Given the description of an element on the screen output the (x, y) to click on. 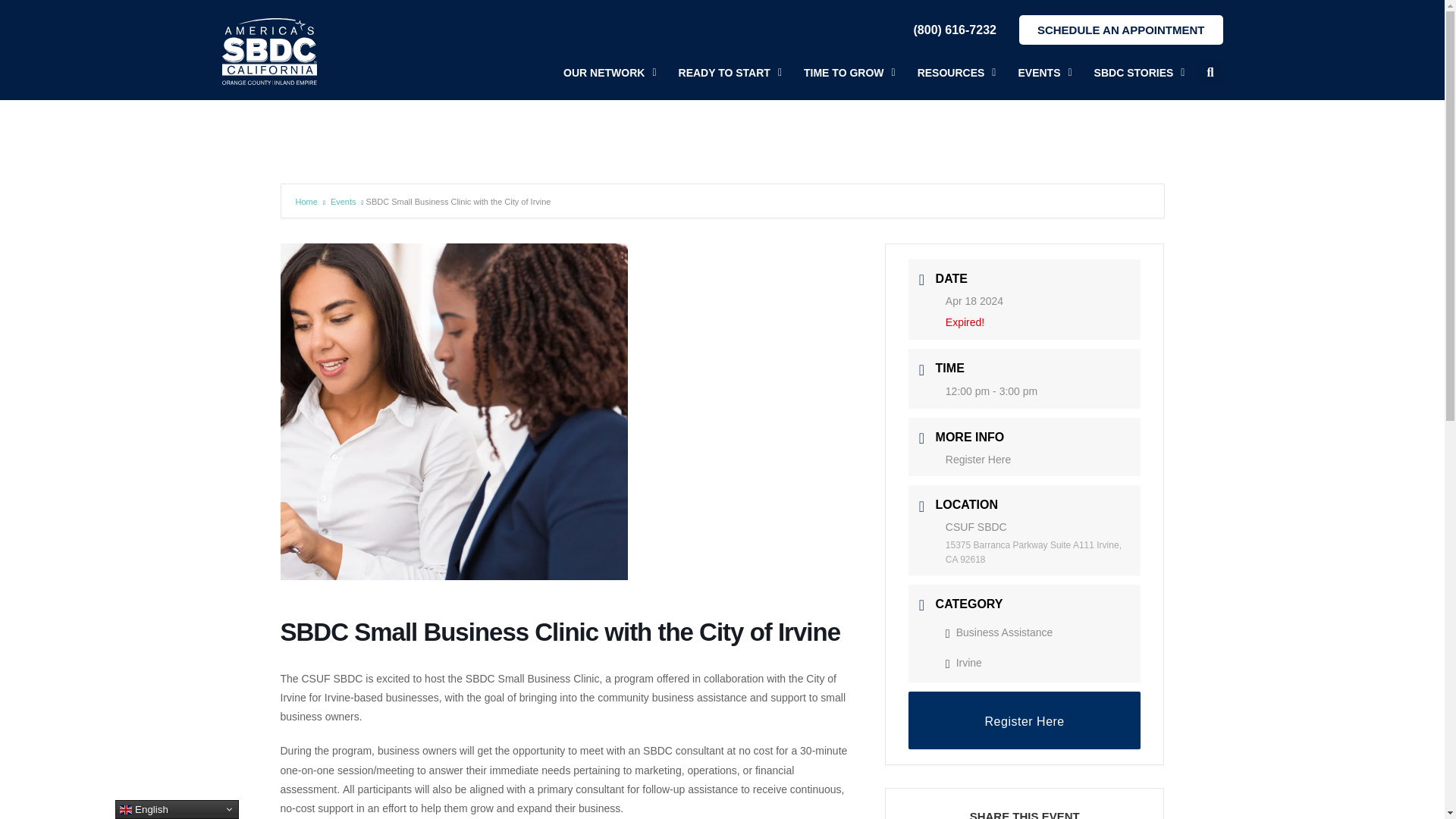
EVENTS (1044, 72)
RESOURCES (956, 72)
SCHEDULE AN APPOINTMENT (1121, 30)
SBDC STORIES (1139, 72)
READY TO START (730, 72)
OUR NETWORK (610, 72)
TIME TO GROW (849, 72)
